Given the description of an element on the screen output the (x, y) to click on. 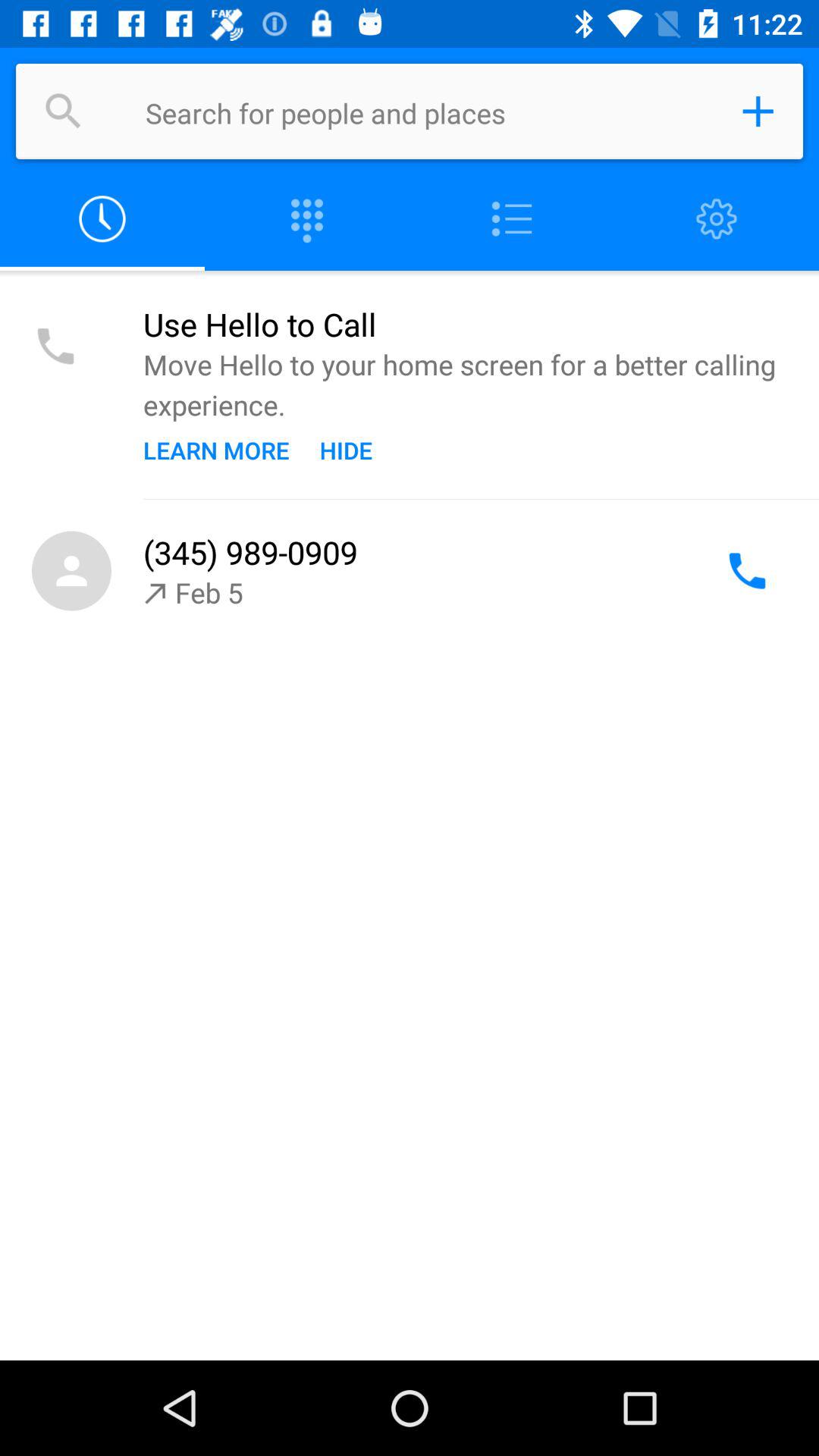
menu options (511, 219)
